Given the description of an element on the screen output the (x, y) to click on. 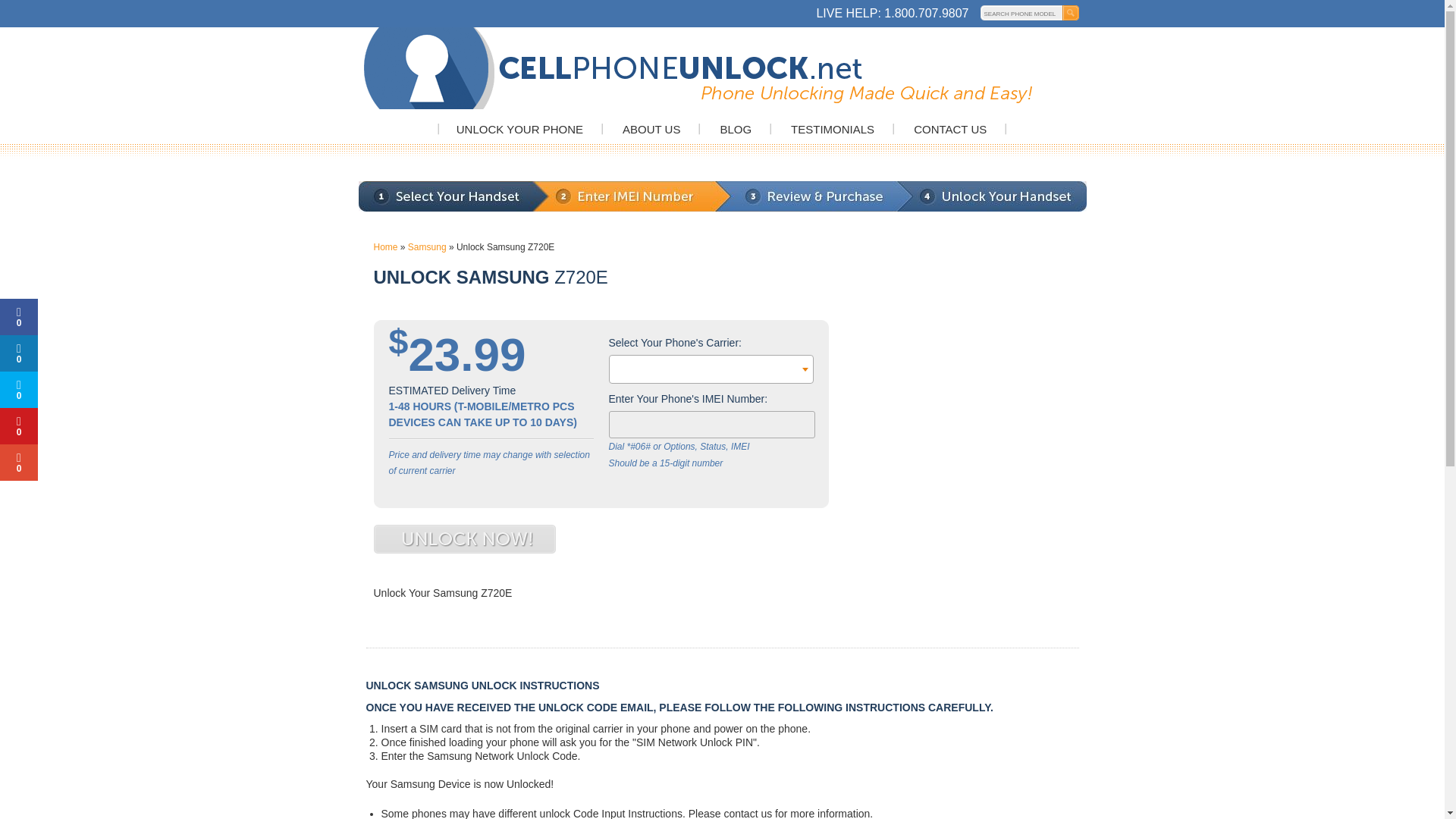
CONTACT US (950, 129)
UNLOCK YOUR PHONE (520, 129)
Search (1072, 12)
TESTIMONIALS (832, 129)
UnlockNow (463, 538)
Home (384, 246)
UnlockNow (463, 538)
BLOG (735, 129)
Search (1072, 12)
Samsung (426, 246)
1.800.707.9807 (925, 12)
ABOUT US (651, 129)
